Given the description of an element on the screen output the (x, y) to click on. 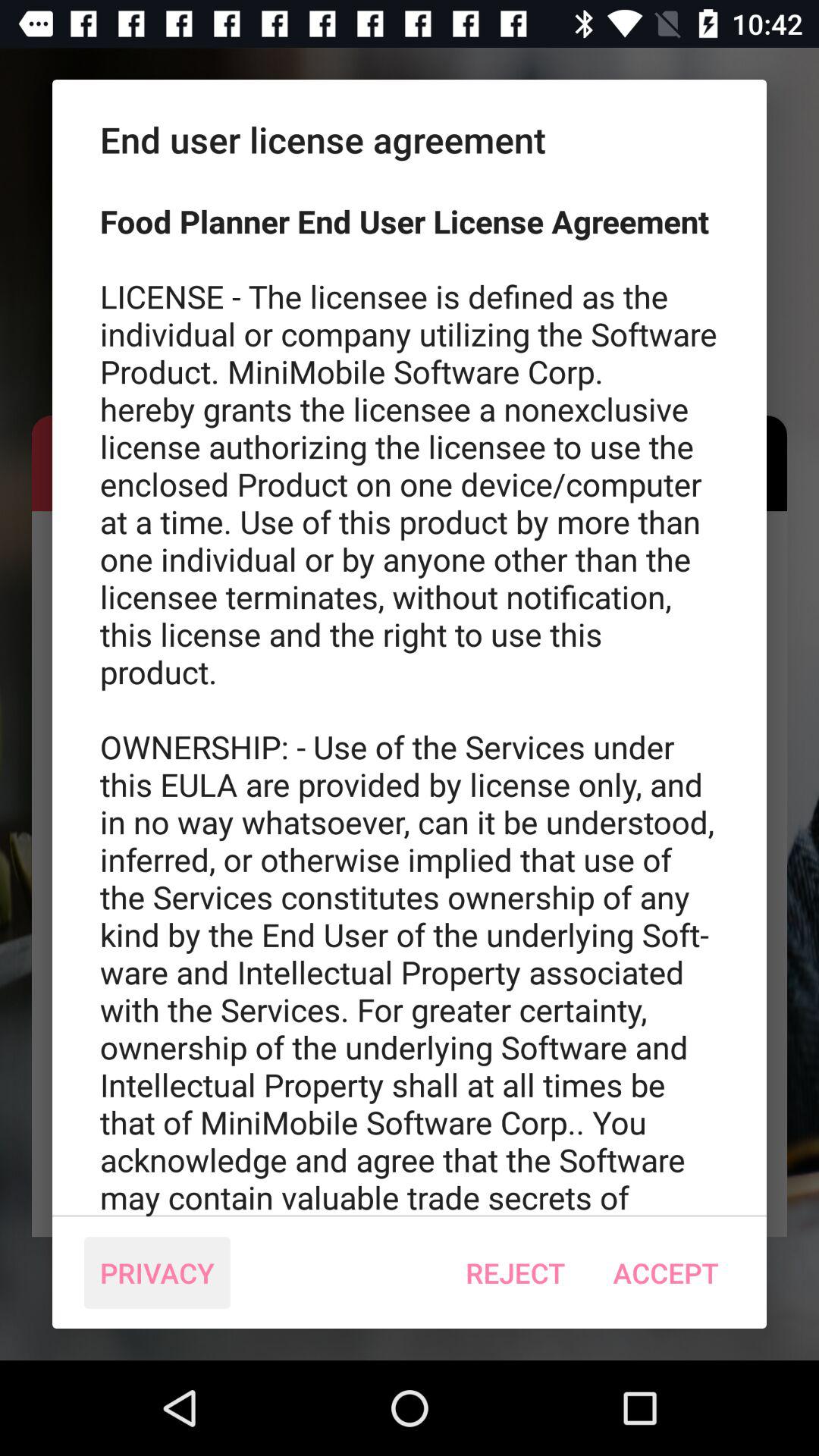
click the icon to the right of the privacy icon (515, 1272)
